Given the description of an element on the screen output the (x, y) to click on. 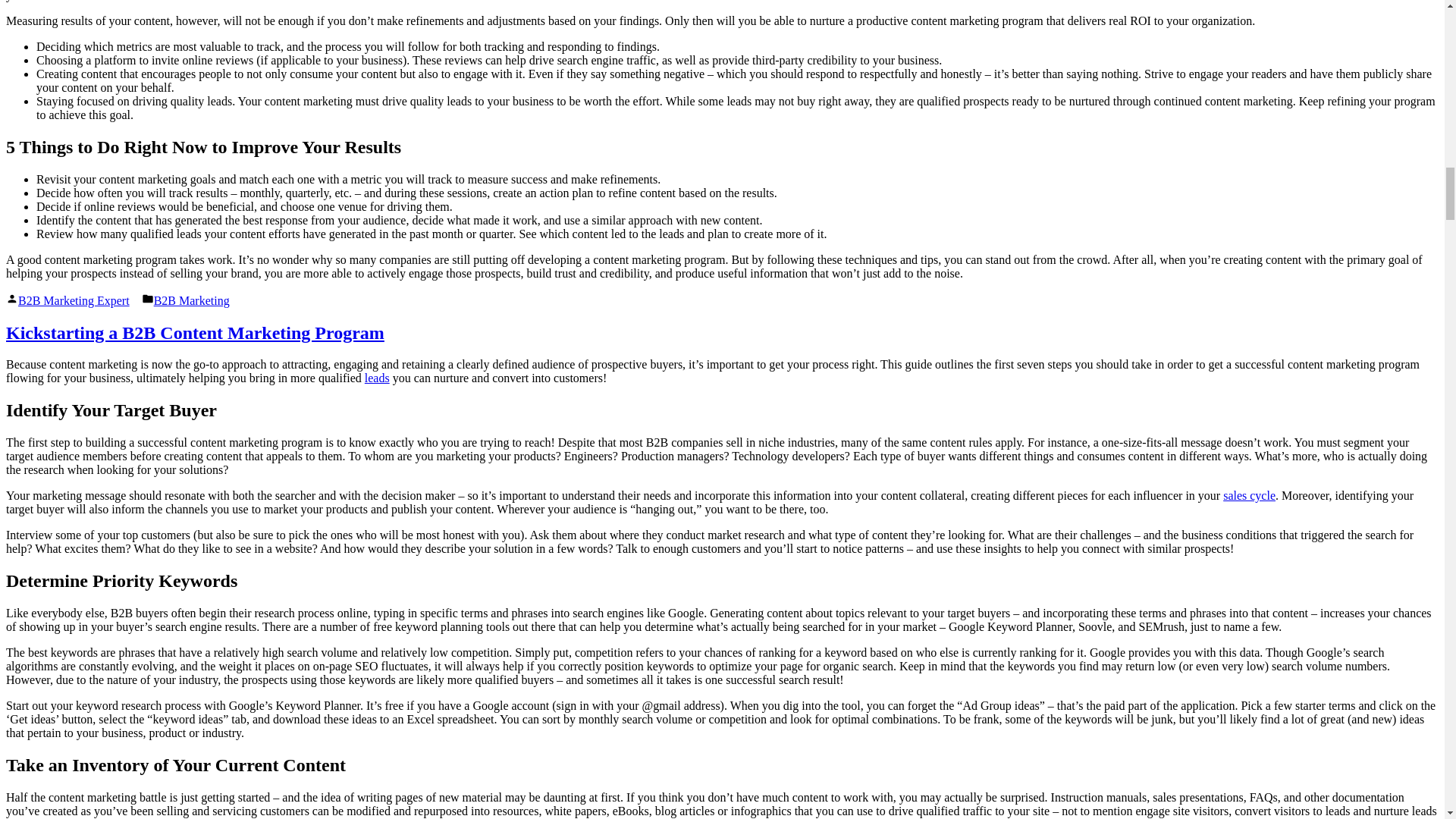
sales cycle (1249, 495)
B2B Marketing (192, 300)
B2B Marketing Expert (73, 300)
leads (377, 377)
Kickstarting a B2B Content Marketing Program (194, 332)
